Given the description of an element on the screen output the (x, y) to click on. 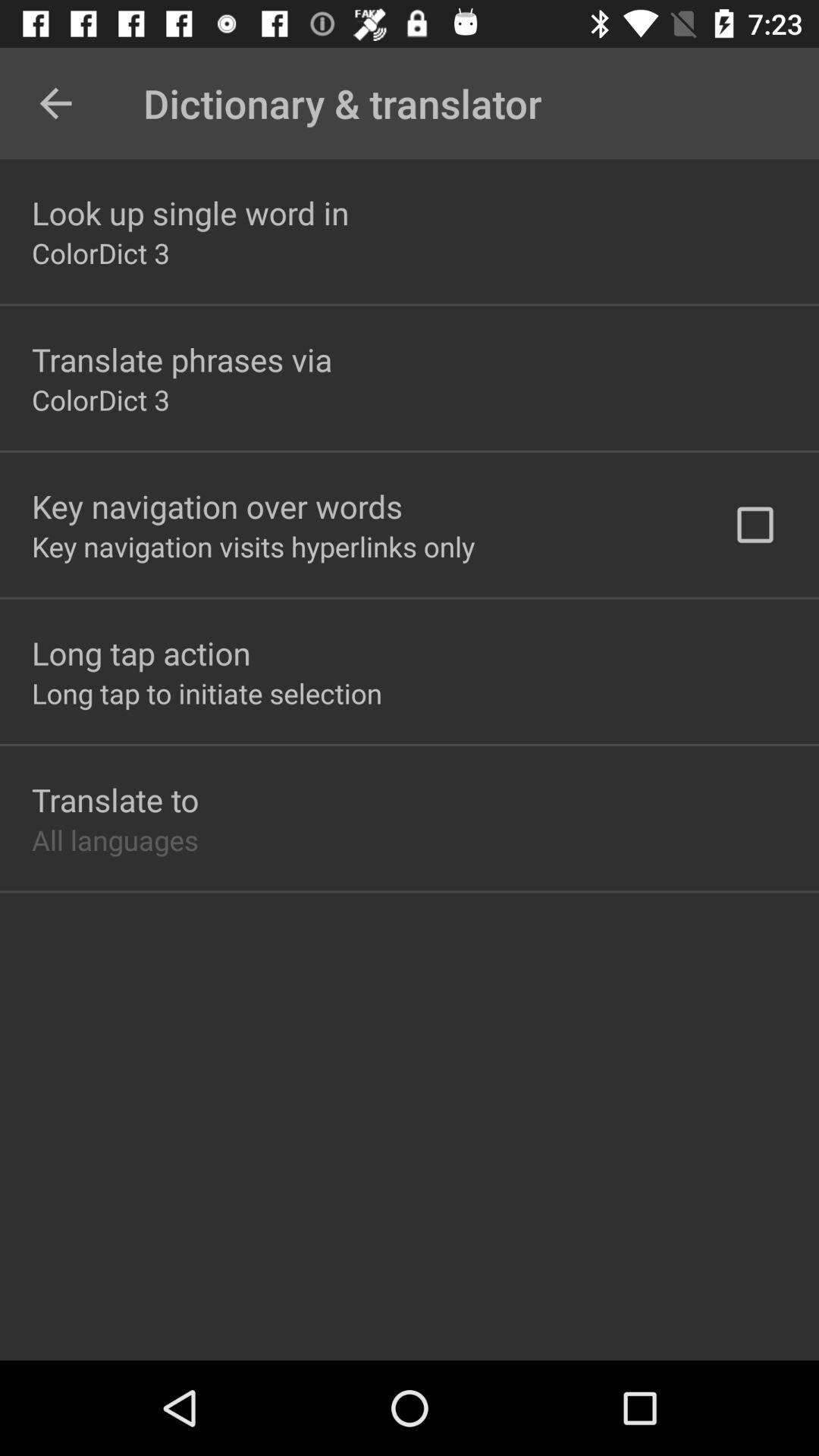
open icon above the all languages item (115, 799)
